Given the description of an element on the screen output the (x, y) to click on. 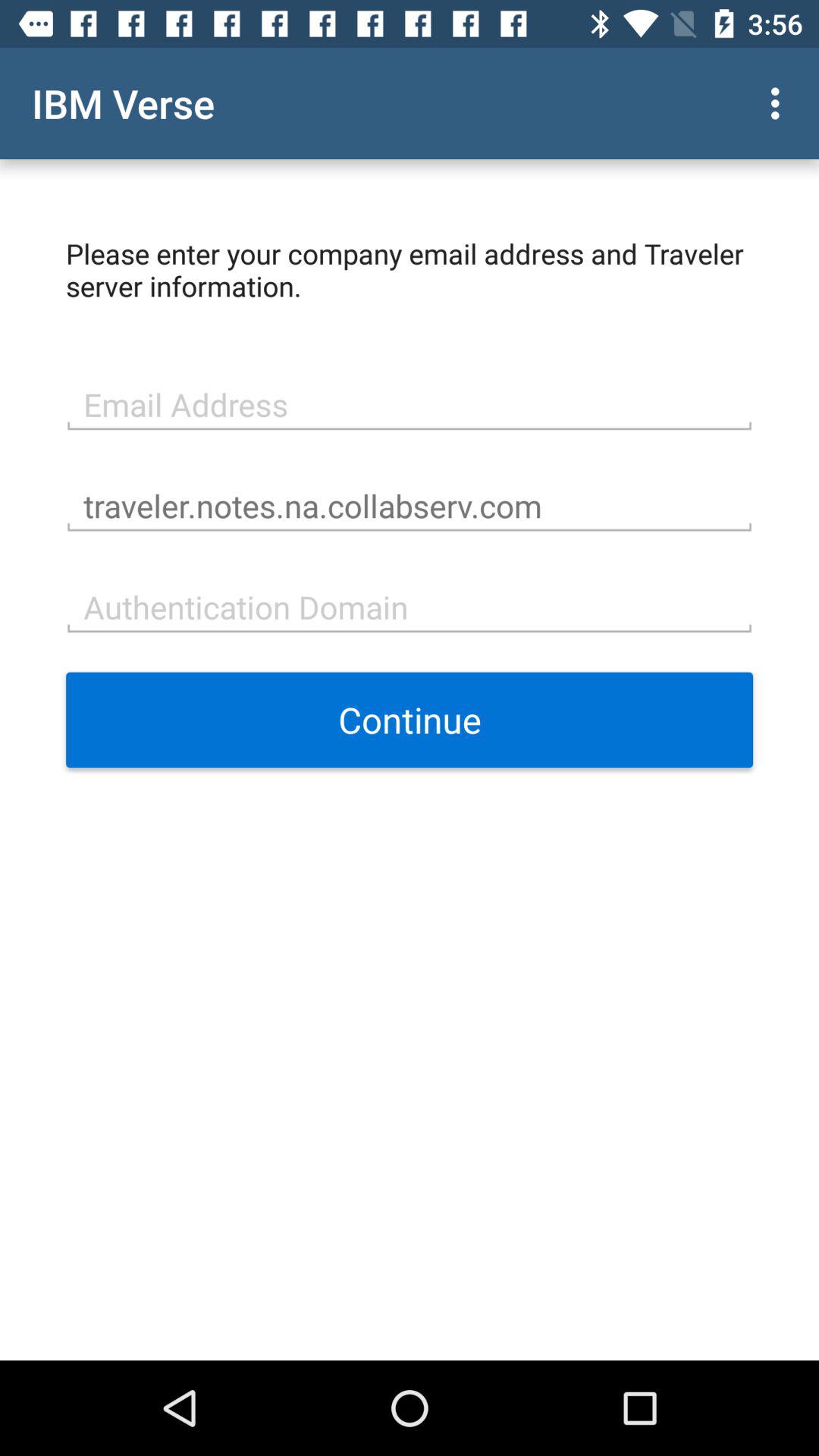
launch the continue item (409, 719)
